Given the description of an element on the screen output the (x, y) to click on. 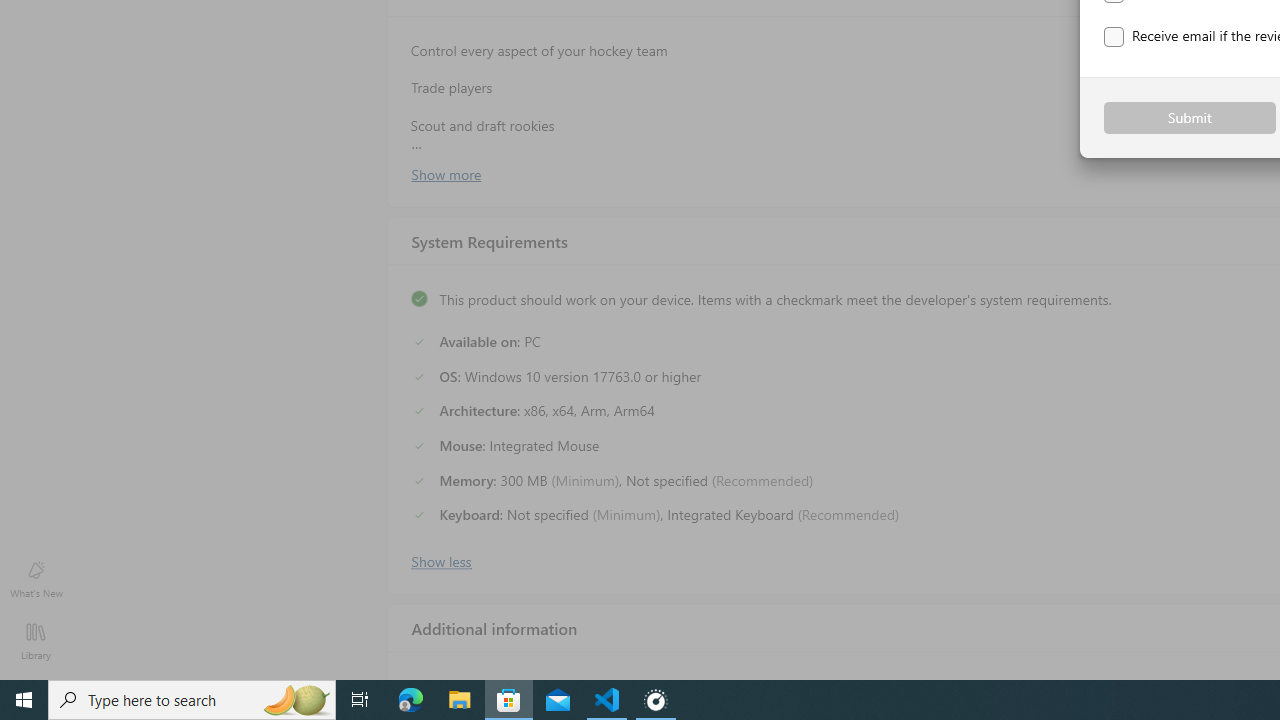
Submit (1189, 117)
Library (35, 640)
What's New (35, 578)
Show more (445, 173)
Show less (440, 559)
